Given the description of an element on the screen output the (x, y) to click on. 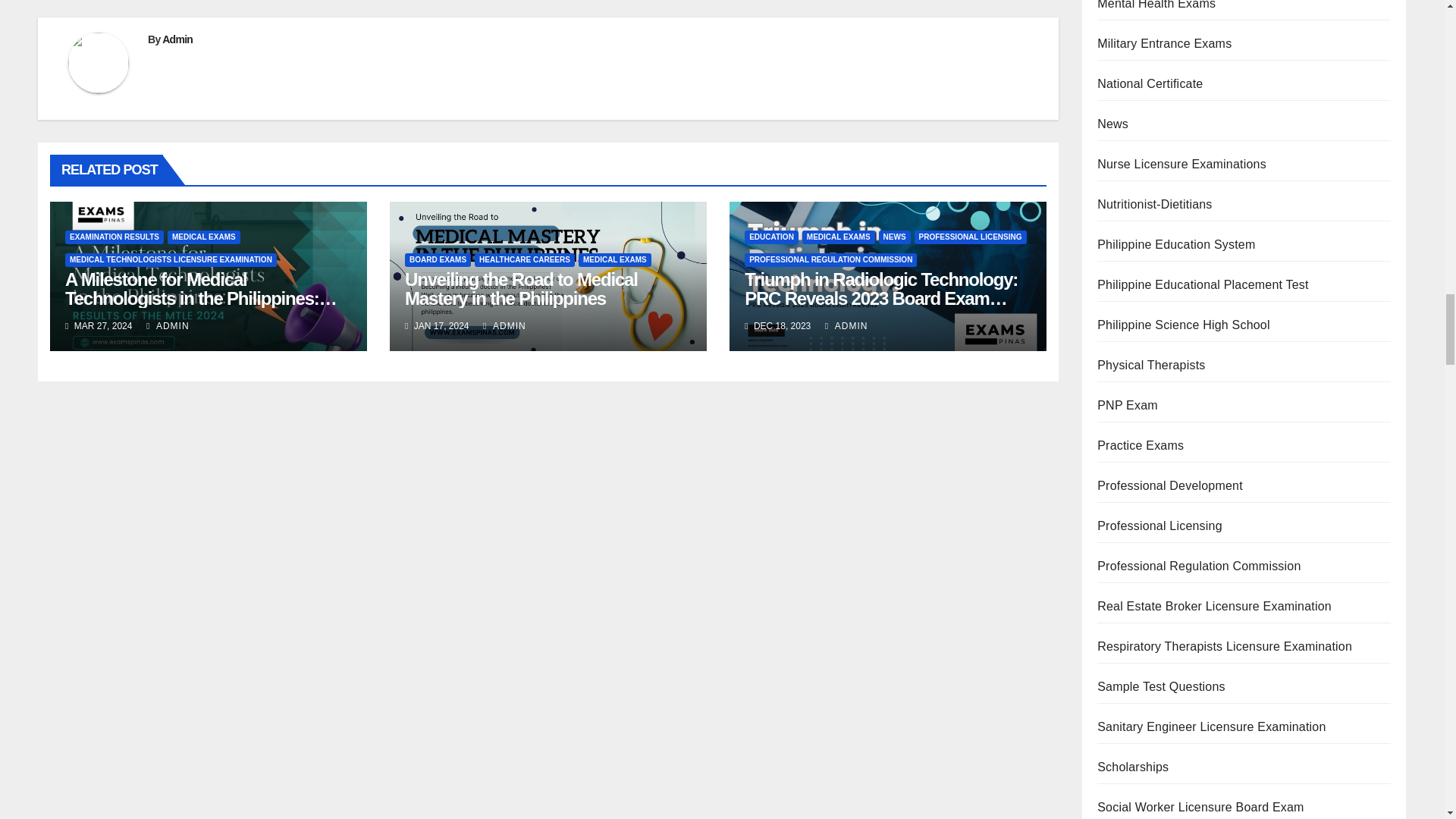
Admin (176, 39)
MEDICAL EXAMS (203, 237)
EXAMINATION RESULTS (114, 237)
HEALTHCARE CAREERS (524, 259)
ADMIN (168, 326)
BOARD EXAMS (437, 259)
MEDICAL TECHNOLOGISTS LICENSURE EXAMINATION (170, 259)
